Given the description of an element on the screen output the (x, y) to click on. 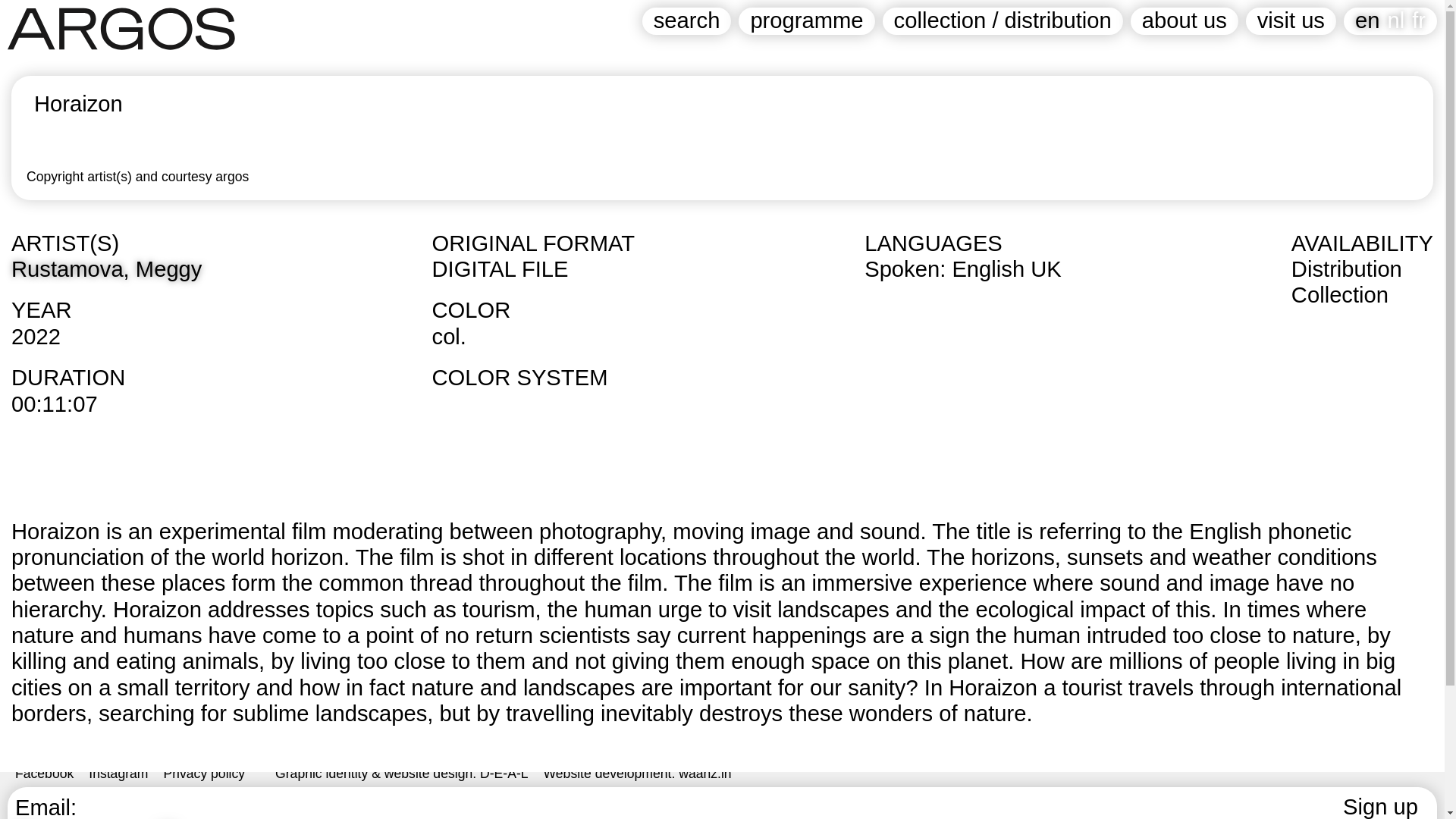
Instagram (118, 773)
nl (1395, 20)
Sign up (1380, 806)
en (1367, 20)
Privacy policy (204, 773)
Rustamova, Meggy (106, 269)
Sign up (1380, 806)
waanz.in (704, 773)
D-E-A-L (504, 773)
programme (806, 21)
visit us (1291, 21)
Facebook (44, 773)
search (687, 21)
